Given the description of an element on the screen output the (x, y) to click on. 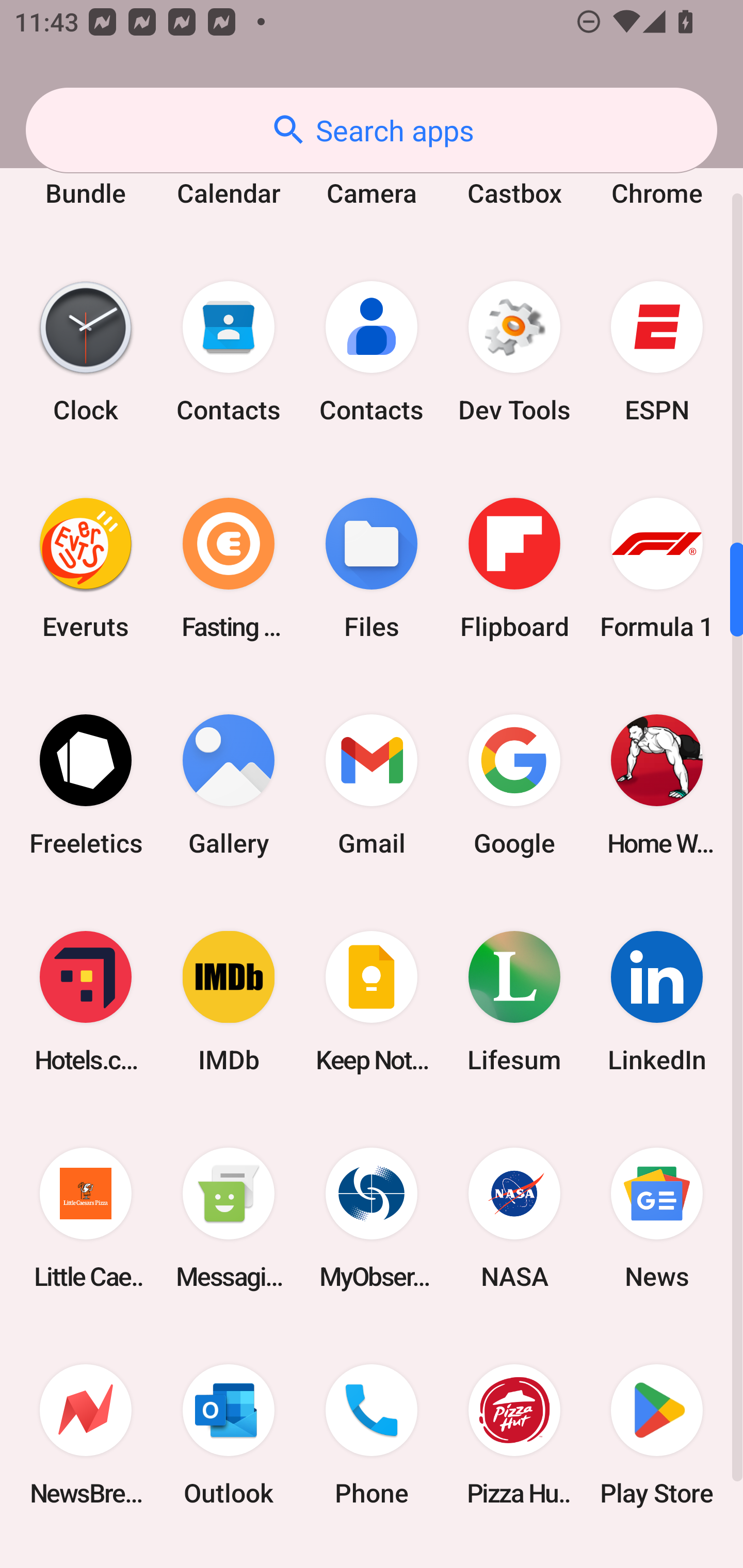
  Search apps (371, 130)
Clock (85, 351)
Contacts (228, 351)
Contacts (371, 351)
Dev Tools (514, 351)
ESPN (656, 351)
Everuts (85, 568)
Fasting Coach (228, 568)
Files (371, 568)
Flipboard (514, 568)
Formula 1 (656, 568)
Freeletics (85, 785)
Gallery (228, 785)
Gmail (371, 785)
Google (514, 785)
Home Workout (656, 785)
Hotels.com (85, 1001)
IMDb (228, 1001)
Keep Notes (371, 1001)
Lifesum (514, 1001)
LinkedIn (656, 1001)
Little Caesars Pizza (85, 1218)
Messaging (228, 1218)
MyObservatory (371, 1218)
NASA (514, 1218)
News (656, 1218)
NewsBreak (85, 1434)
Outlook (228, 1434)
Phone (371, 1434)
Pizza Hut HK & Macau (514, 1434)
Play Store (656, 1434)
